Given the description of an element on the screen output the (x, y) to click on. 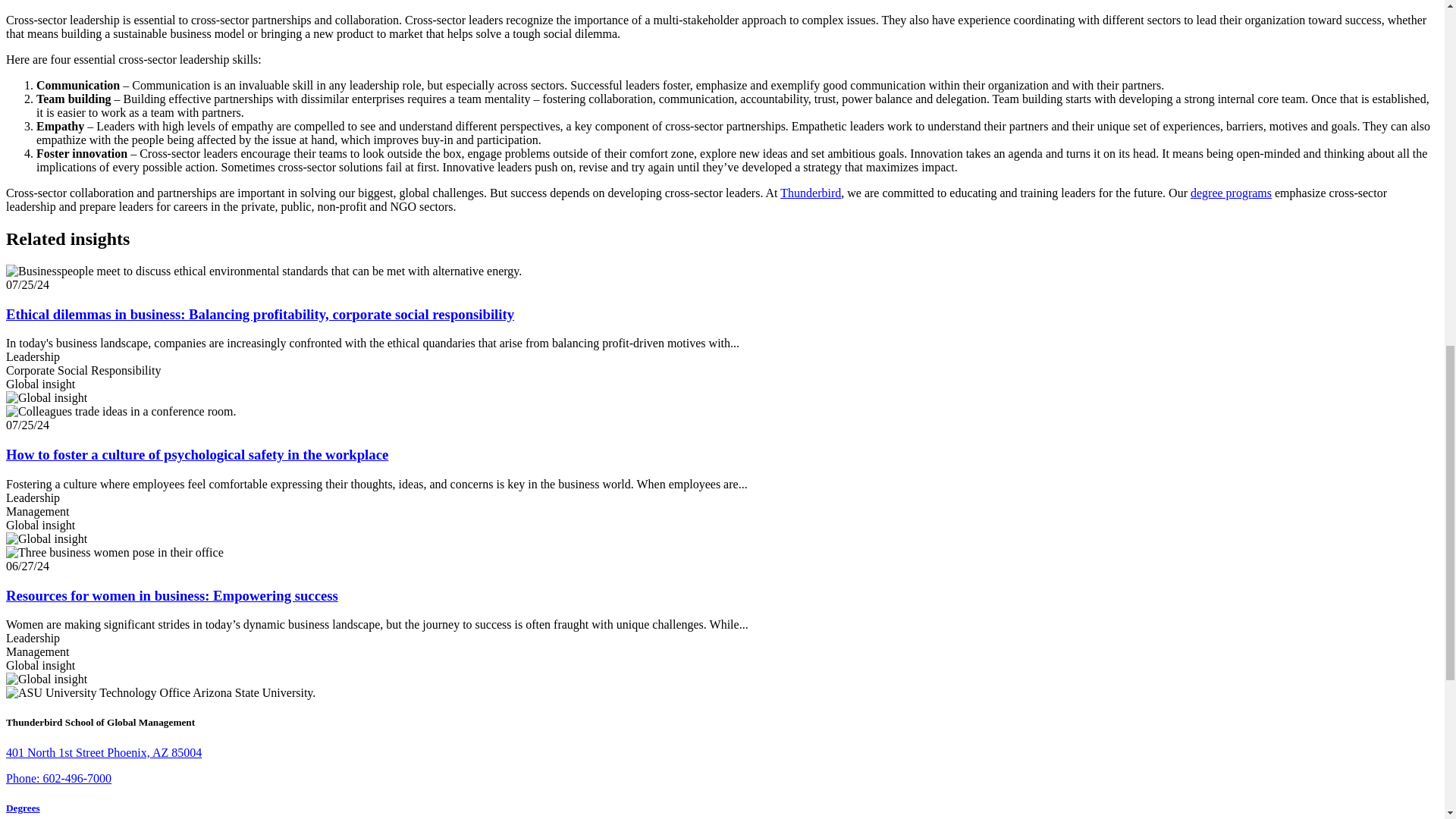
Resources for women in business: Empowering success (171, 595)
Degrees (22, 808)
401 North 1st Street Phoenix, AZ 85004 (103, 752)
degree programs (1231, 192)
Thunderbird (810, 192)
Phone: 602-496-7000 (58, 778)
